Given the description of an element on the screen output the (x, y) to click on. 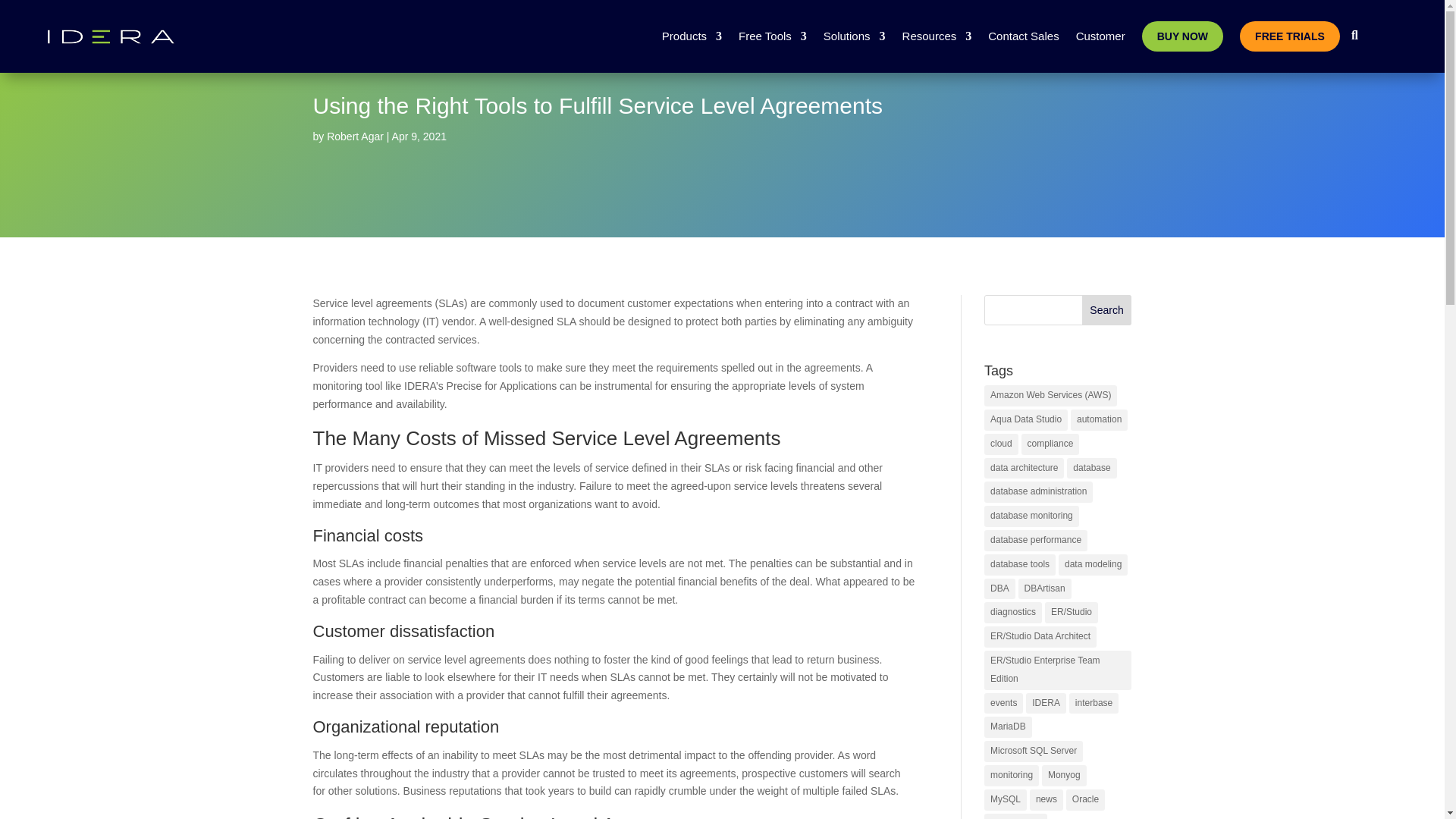
Posts by Robert Agar (355, 136)
Solutions (854, 36)
Free Tools (772, 36)
Search (1106, 309)
Products (692, 36)
